Given the description of an element on the screen output the (x, y) to click on. 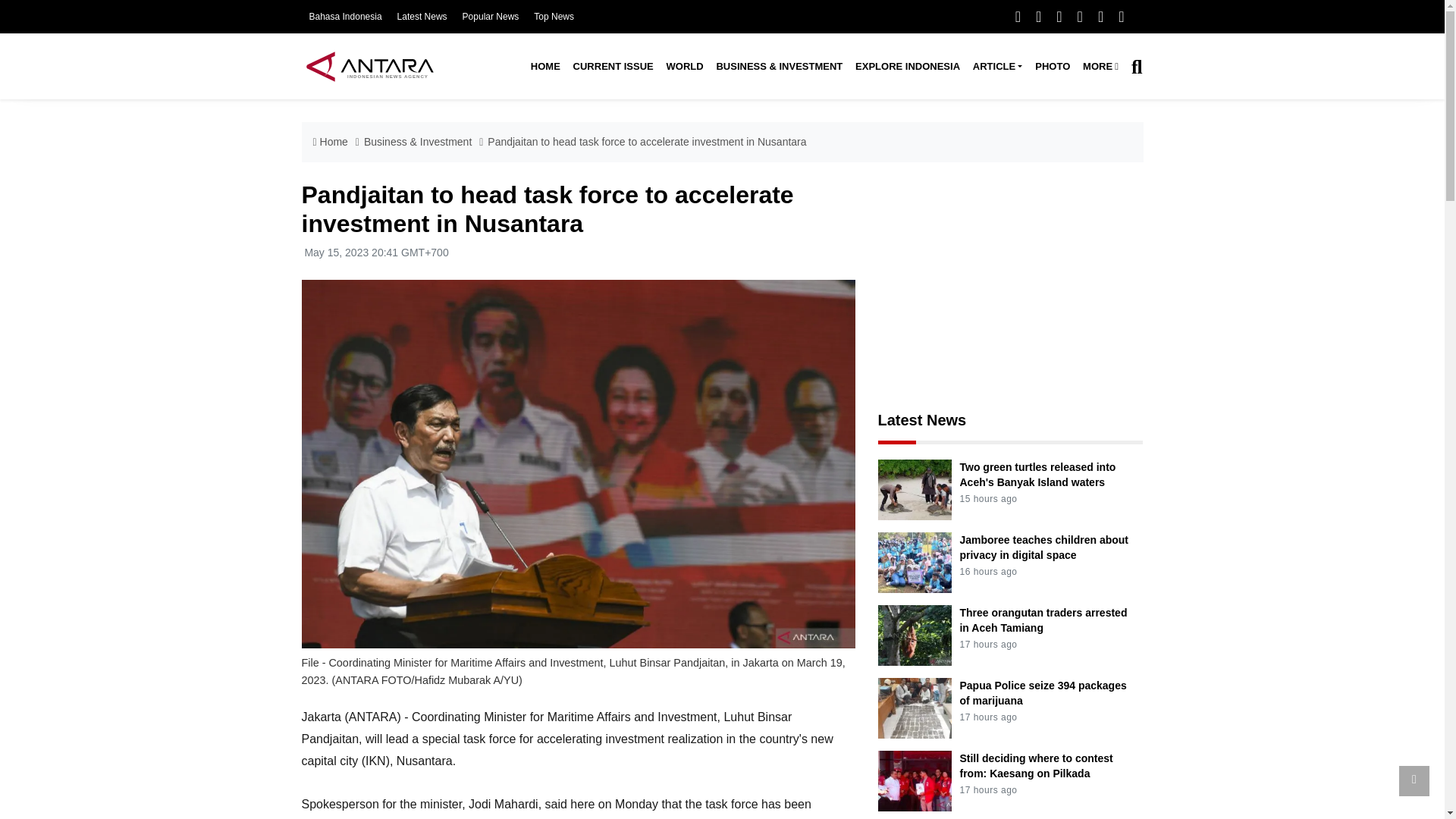
ARTICLE (996, 66)
Popular News (491, 16)
ANTARA News (369, 66)
Latest News (421, 16)
Bahasa Indonesia (344, 16)
EXPLORE INDONESIA (907, 66)
Latest News (421, 16)
Bahasa Indonesia (344, 16)
Top News (553, 16)
Explore Indonesia (907, 66)
Article (996, 66)
Popular News (491, 16)
Current Issue (612, 66)
CURRENT ISSUE (612, 66)
Top News (553, 16)
